Given the description of an element on the screen output the (x, y) to click on. 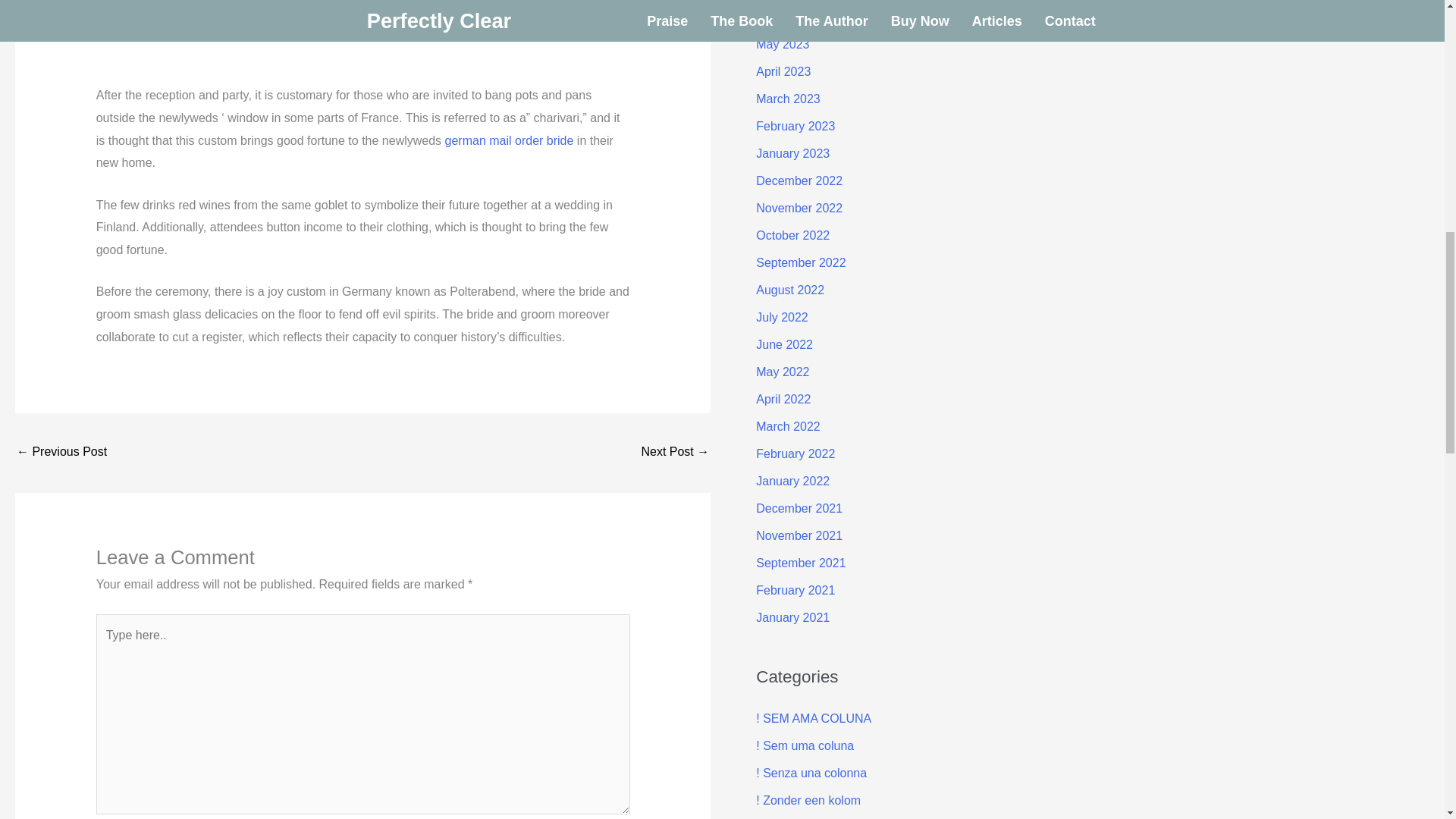
german mail order bride (509, 140)
